Given the description of an element on the screen output the (x, y) to click on. 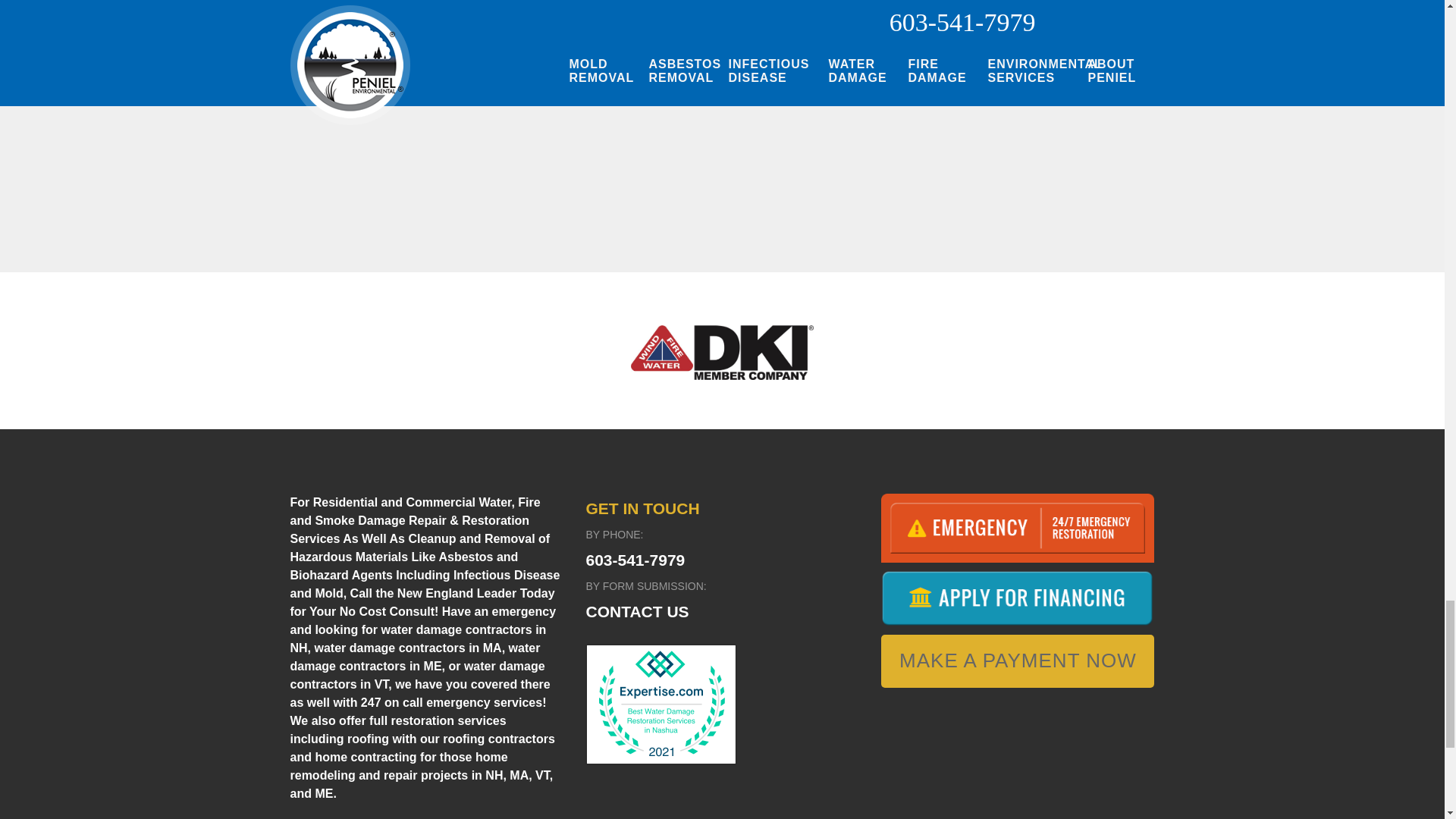
Make a Payment Now (1017, 660)
